Given the description of an element on the screen output the (x, y) to click on. 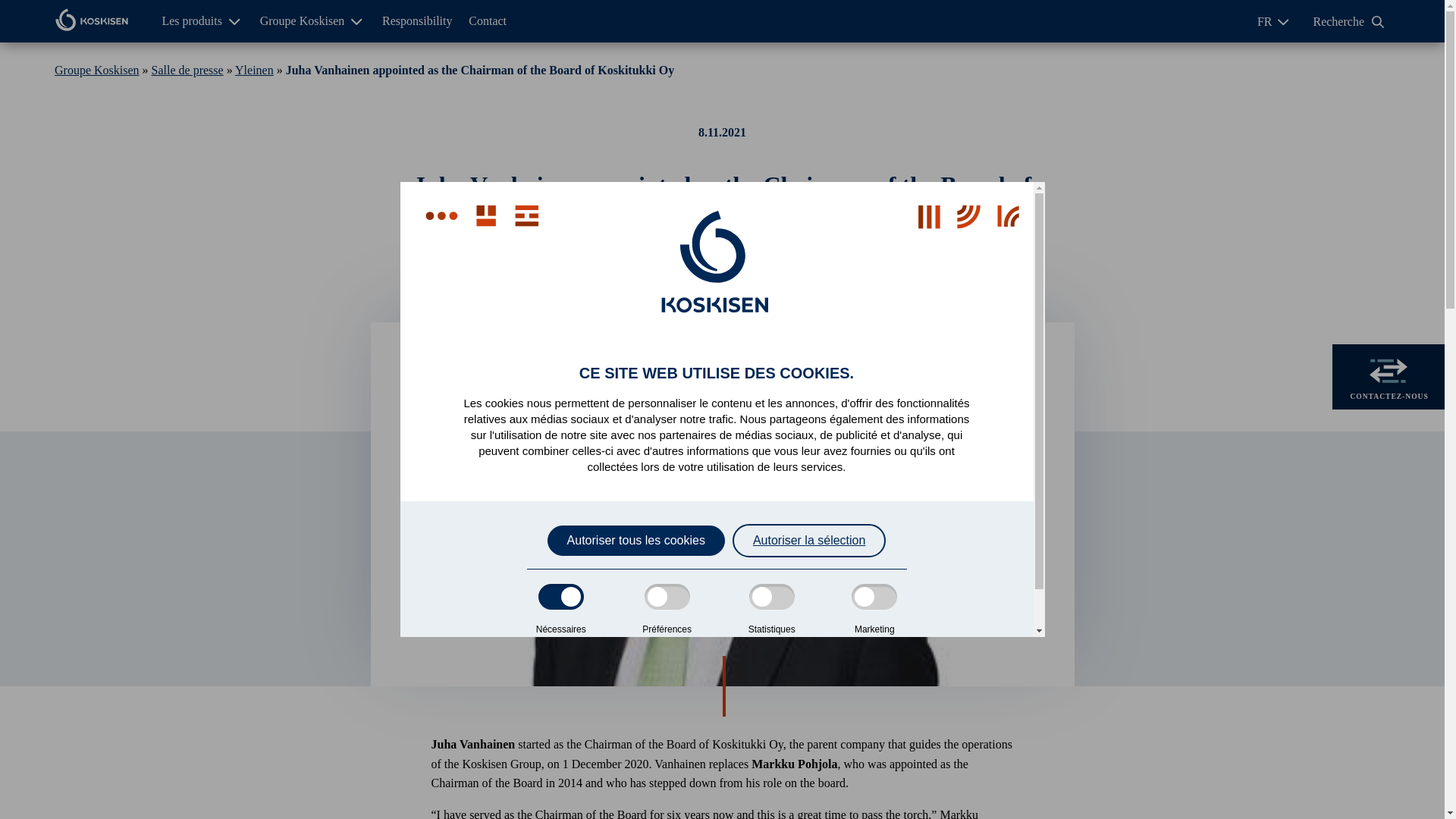
Autoriser tous les cookies (636, 539)
